Given the description of an element on the screen output the (x, y) to click on. 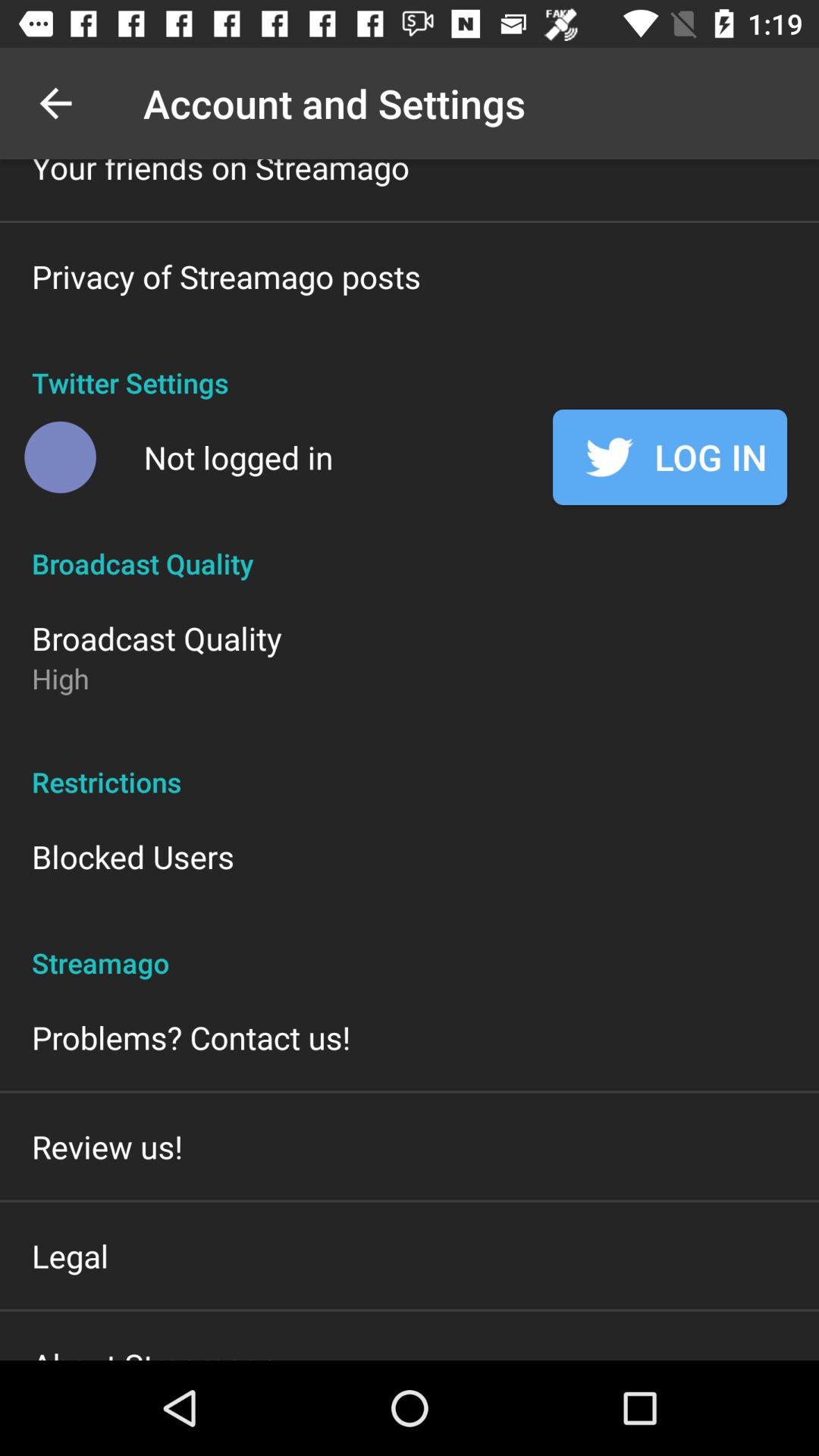
select the item above the review us! (190, 1037)
